Given the description of an element on the screen output the (x, y) to click on. 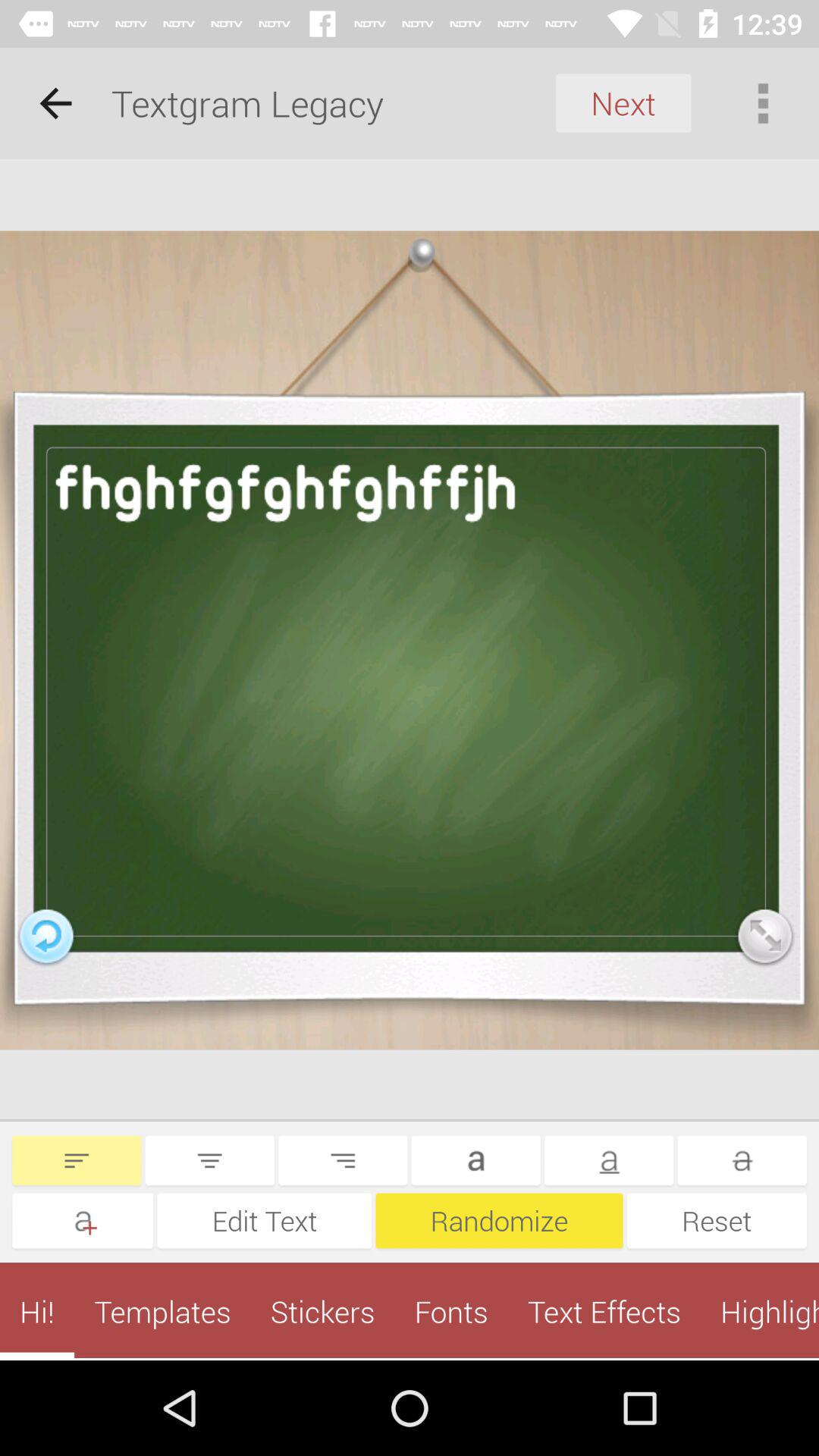
open highlight (759, 1311)
